Given the description of an element on the screen output the (x, y) to click on. 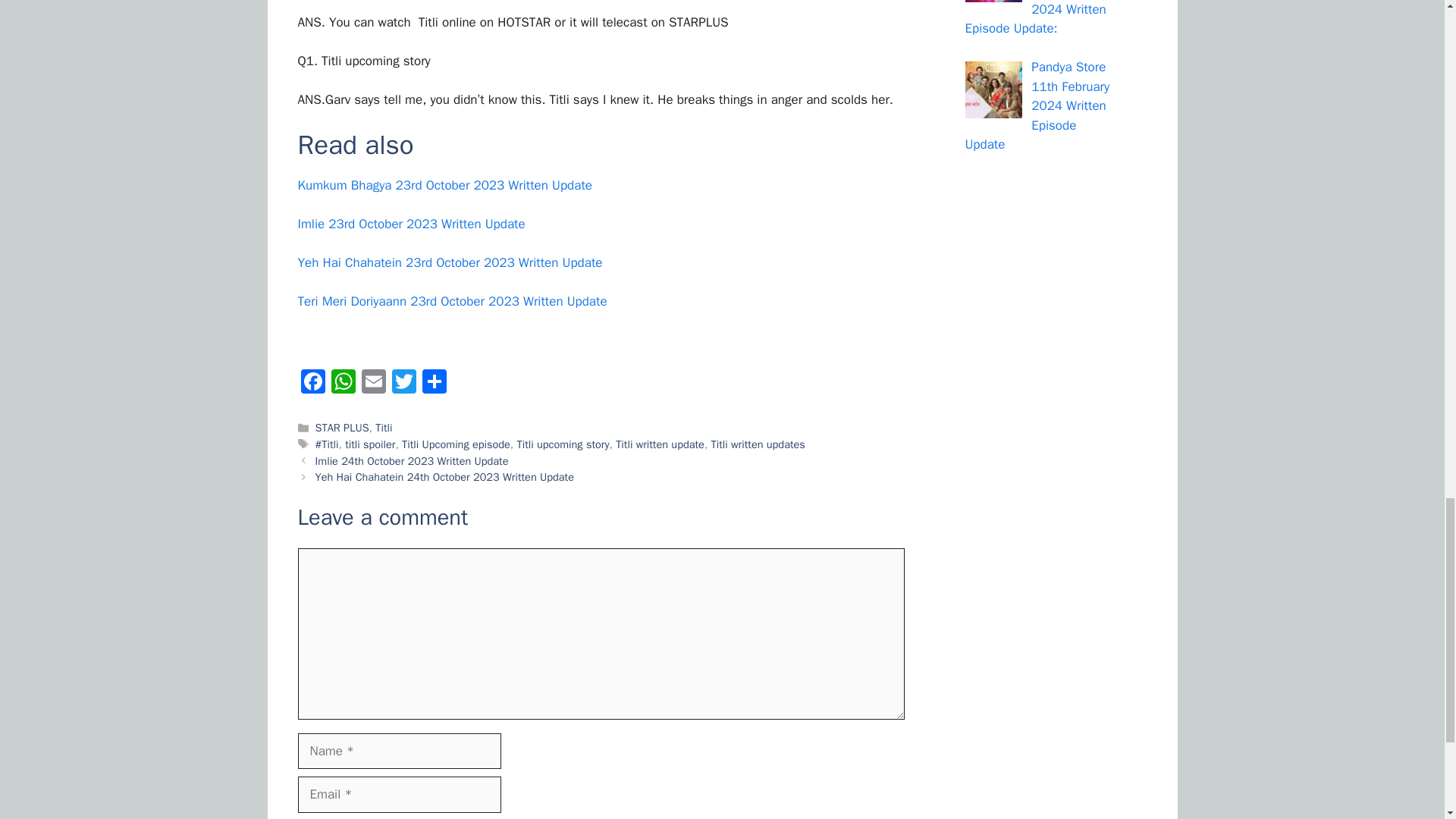
Email (373, 383)
Twitter (403, 383)
WhatsApp (342, 383)
kundali bhagya upcoming story (363, 60)
Facebook (312, 383)
